Given the description of an element on the screen output the (x, y) to click on. 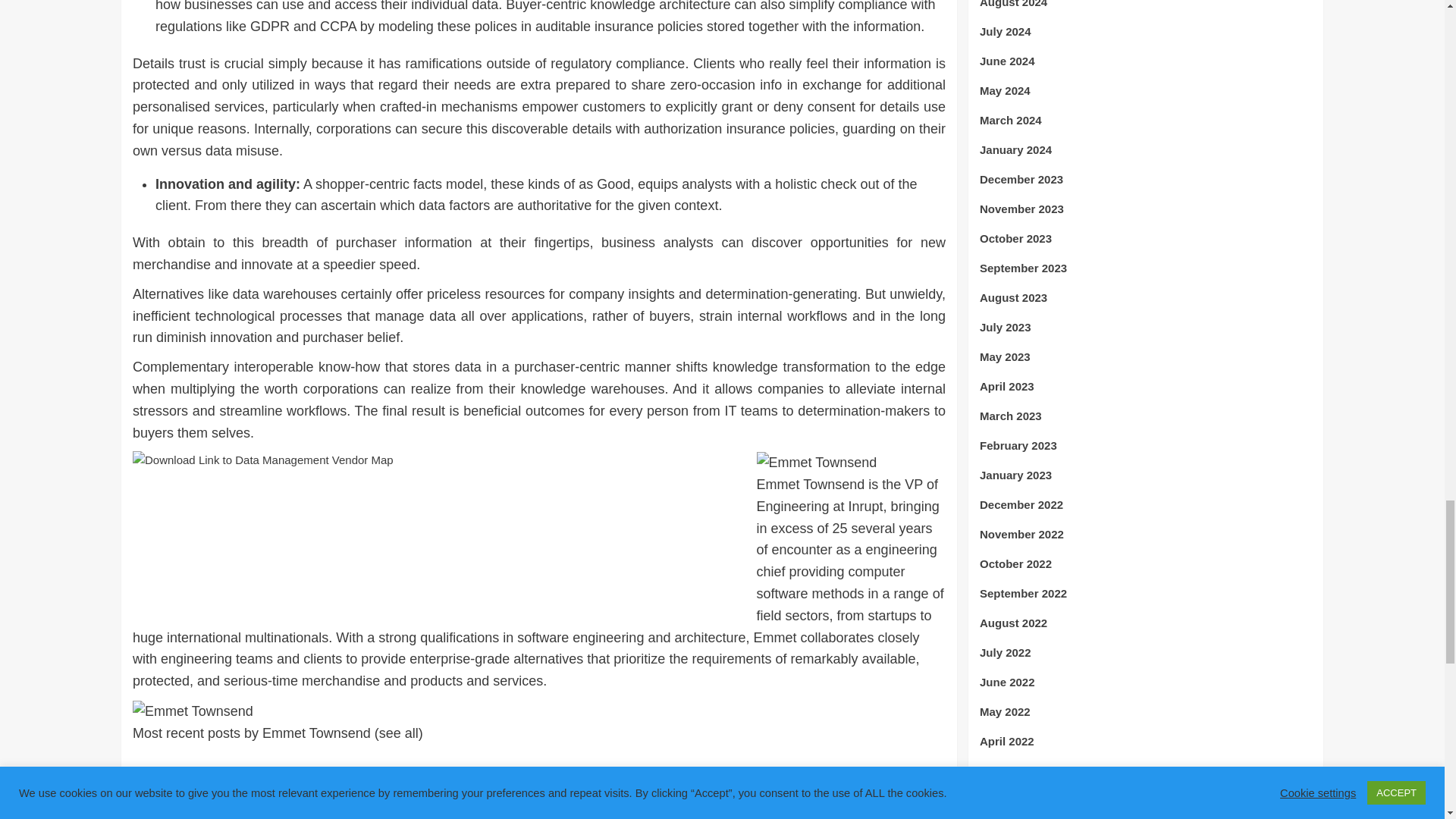
data (213, 770)
unveils (376, 770)
engineering (257, 770)
warehouse (424, 770)
benefits (179, 770)
Management (322, 770)
